Given the description of an element on the screen output the (x, y) to click on. 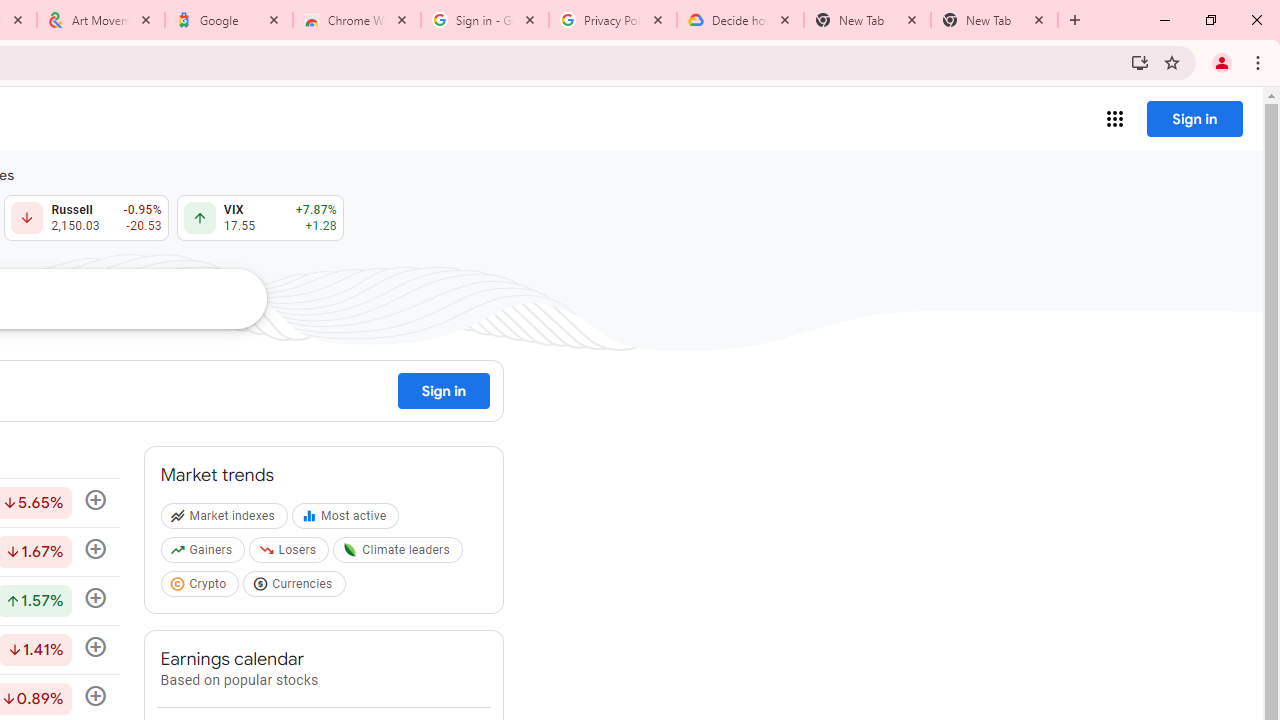
Sign in (444, 390)
Install Google Finance (1139, 62)
Gainers (204, 553)
New Tab (994, 20)
GLeaf logo Climate leaders (399, 553)
Losers (291, 553)
Crypto (202, 587)
Chrome Web Store - Color themes by Chrome (357, 20)
Market indexes (226, 520)
Follow (95, 647)
